Given the description of an element on the screen output the (x, y) to click on. 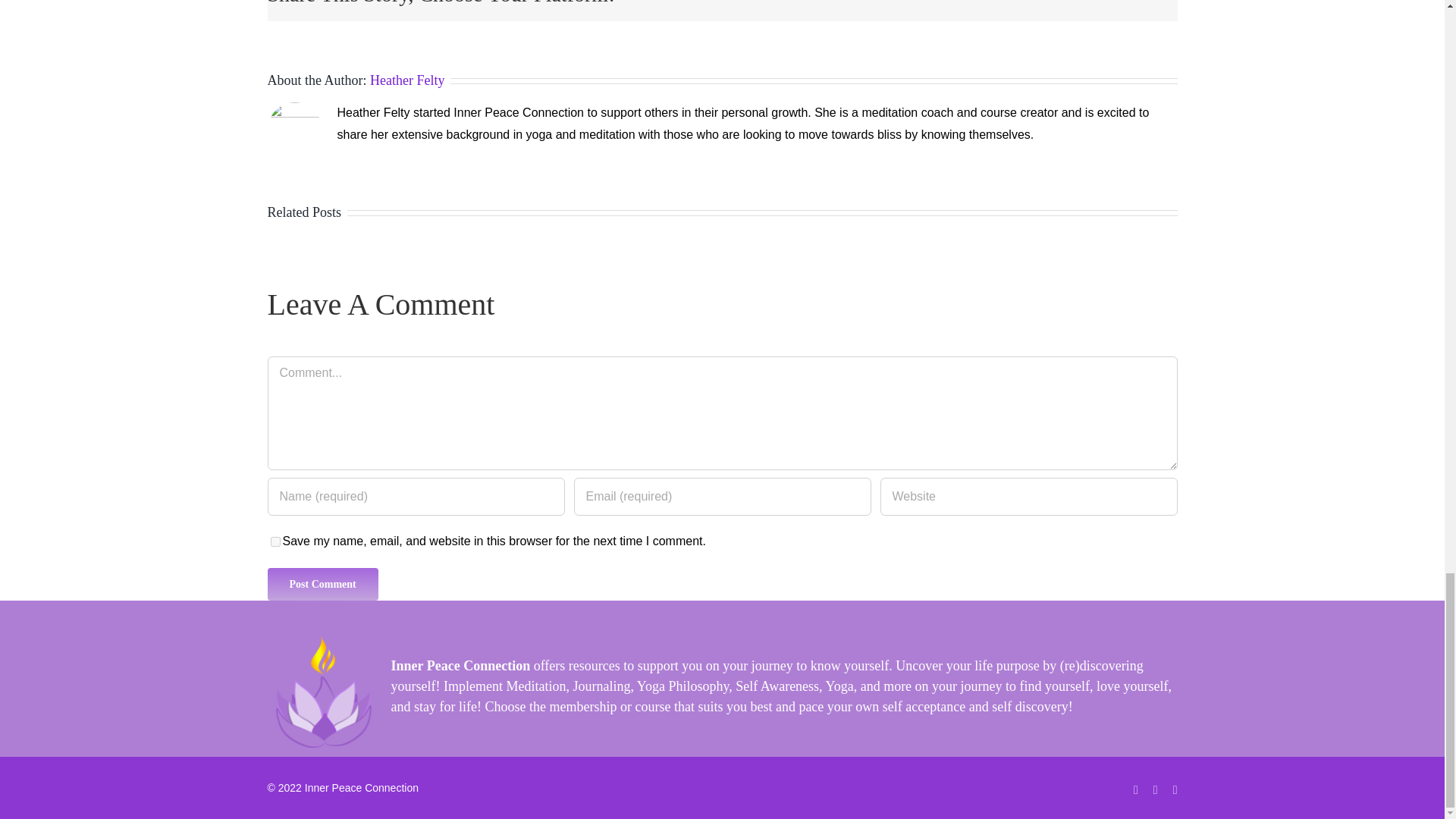
Posts by Heather Felty (406, 79)
Post Comment (321, 584)
